Given the description of an element on the screen output the (x, y) to click on. 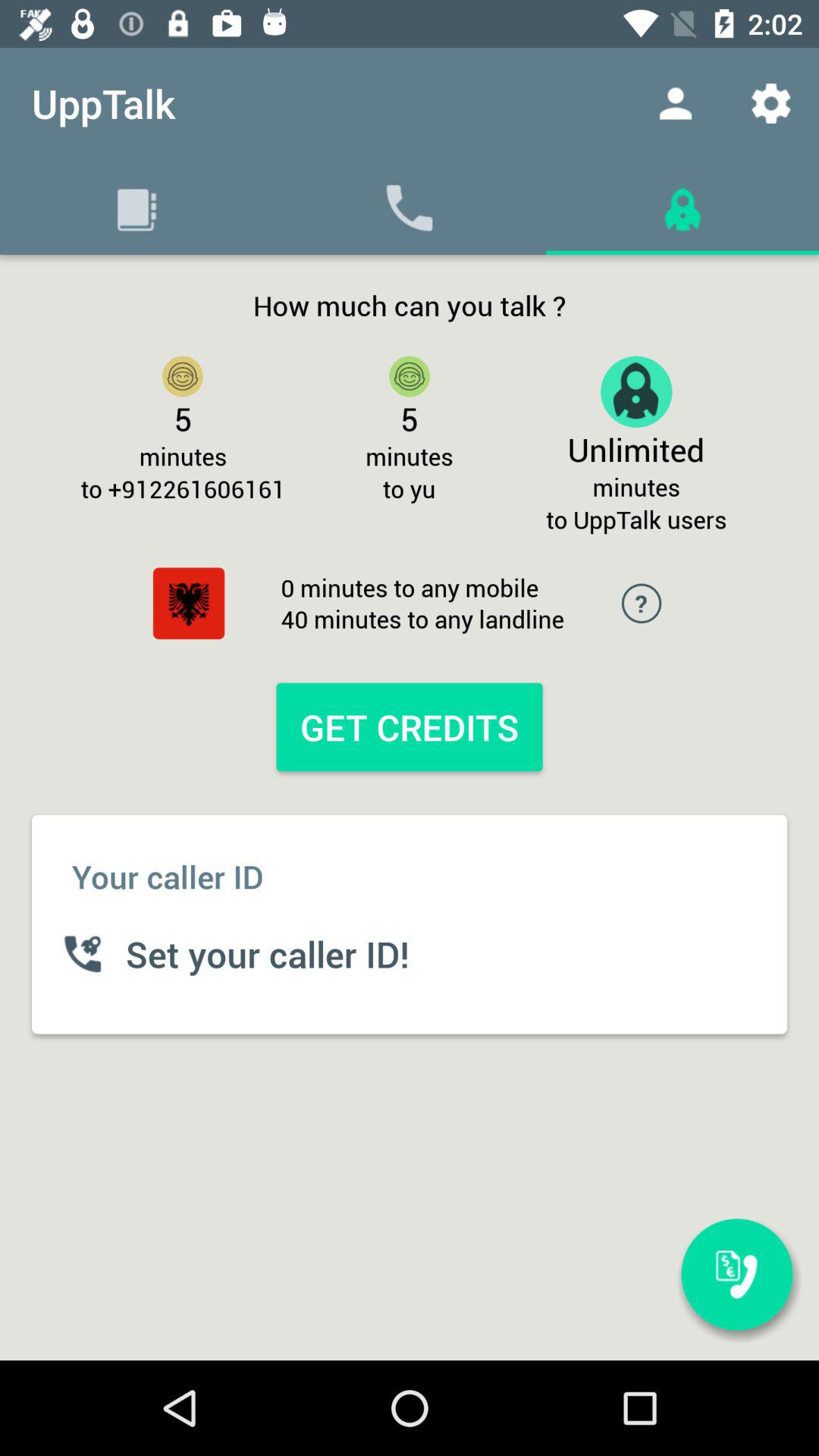
press get credits (409, 727)
